Given the description of an element on the screen output the (x, y) to click on. 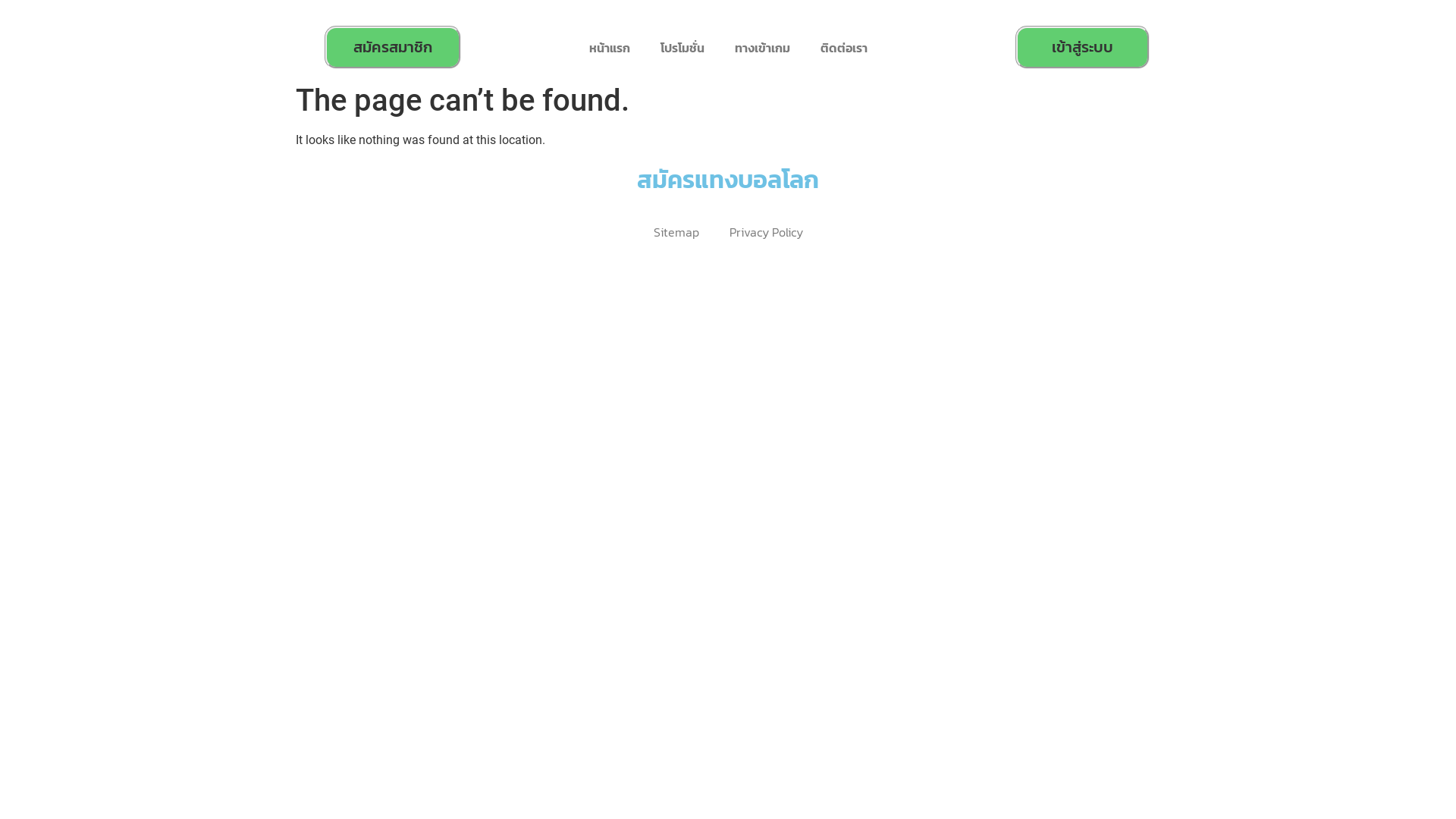
Privacy Policy Element type: text (766, 232)
Sitemap Element type: text (676, 232)
